Given the description of an element on the screen output the (x, y) to click on. 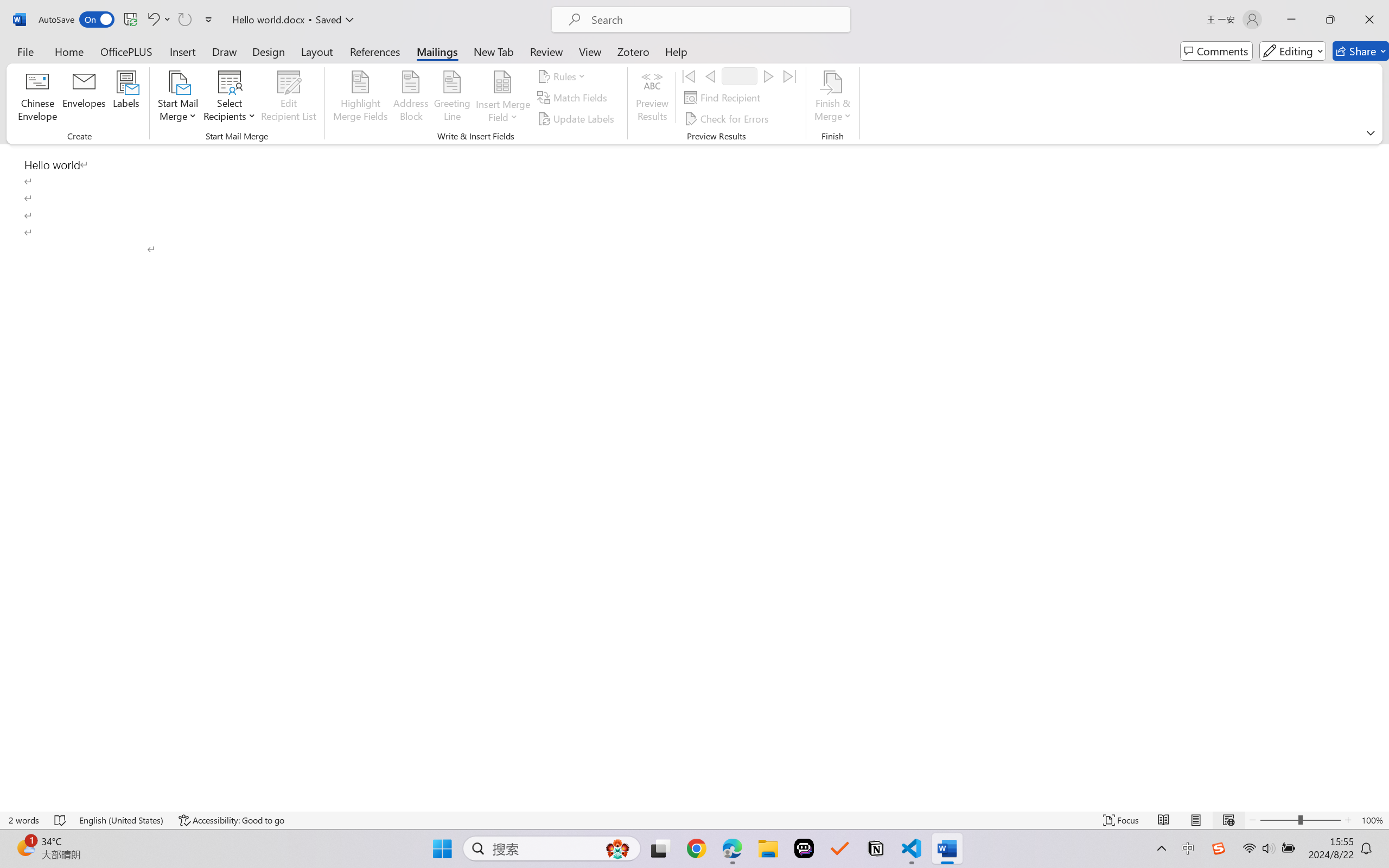
AutomationID: DynamicSearchBoxGleamImage (617, 848)
Rules (563, 75)
OfficePLUS (126, 51)
Help (675, 51)
Record (739, 76)
AutomationID: BadgeAnchorLargeTicker (24, 847)
Zotero (632, 51)
Zoom Out (1278, 819)
Customize Quick Access Toolbar (208, 19)
Minimize (1291, 19)
File Tab (24, 51)
Chinese Envelope... (37, 97)
Can't Repeat (184, 19)
Comments (1216, 50)
